Given the description of an element on the screen output the (x, y) to click on. 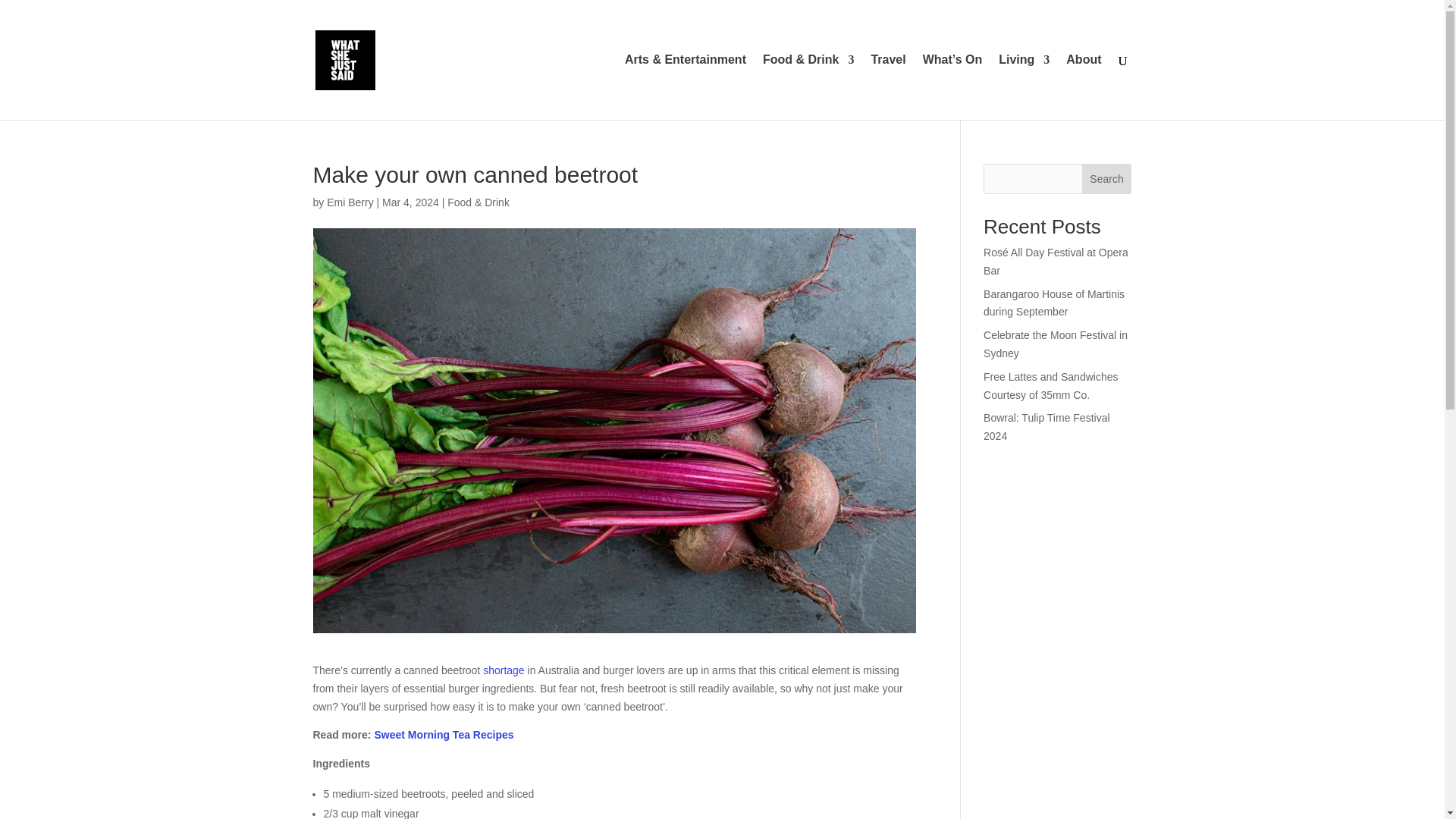
shortage (503, 670)
Free Lattes and Sandwiches Courtesy of 35mm Co. (1051, 386)
Posts by Emi Berry (349, 202)
Emi Berry (349, 202)
Search (1106, 178)
Bowral: Tulip Time Festival 2024 (1046, 426)
Sweet Morning Tea Recipes (443, 734)
Celebrate the Moon Festival in Sydney (1055, 344)
Barangaroo House of Martinis during September (1054, 303)
